Given the description of an element on the screen output the (x, y) to click on. 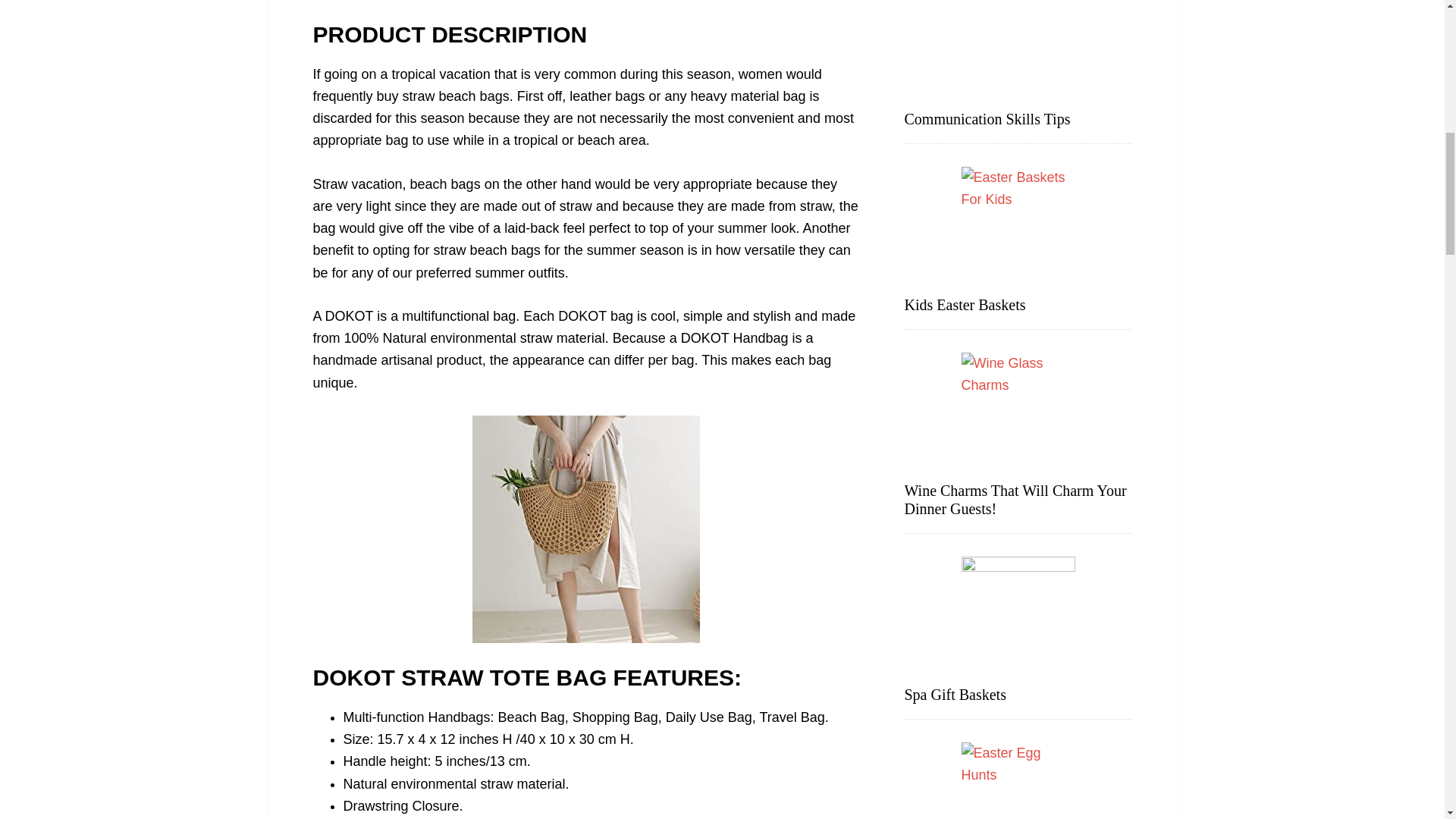
Spa Gift Baskets (955, 694)
Kids Easter Baskets (964, 304)
Wine Charms That Will Charm Your Dinner Guests! (1014, 499)
Communication Skills Tips (987, 118)
